Given the description of an element on the screen output the (x, y) to click on. 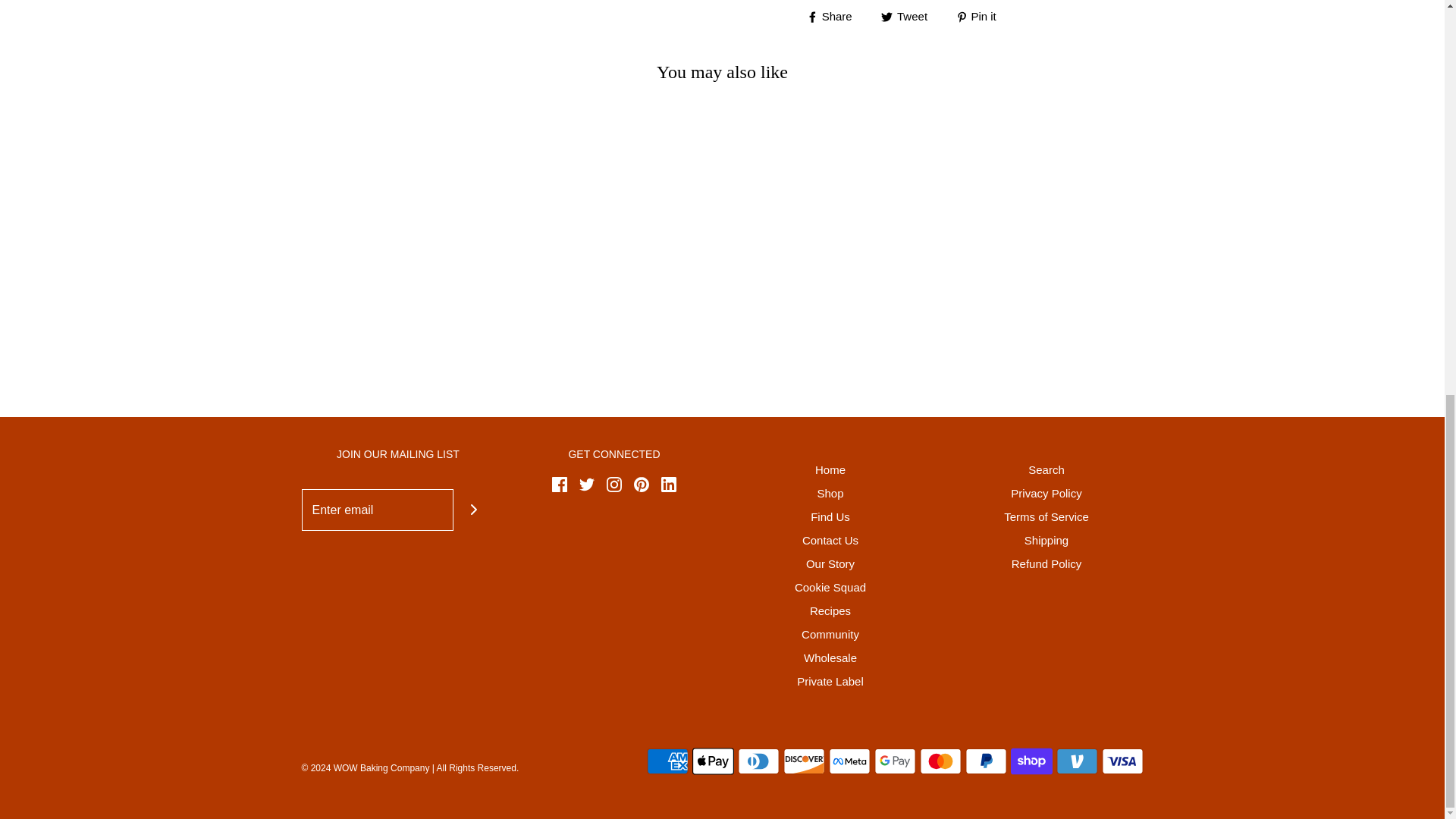
Apple Pay (712, 761)
Pinterest icon (641, 484)
Instagram icon (614, 484)
Twitter icon (586, 484)
American Express (666, 761)
LinkedIn icon (669, 484)
Facebook icon (559, 484)
